Given the description of an element on the screen output the (x, y) to click on. 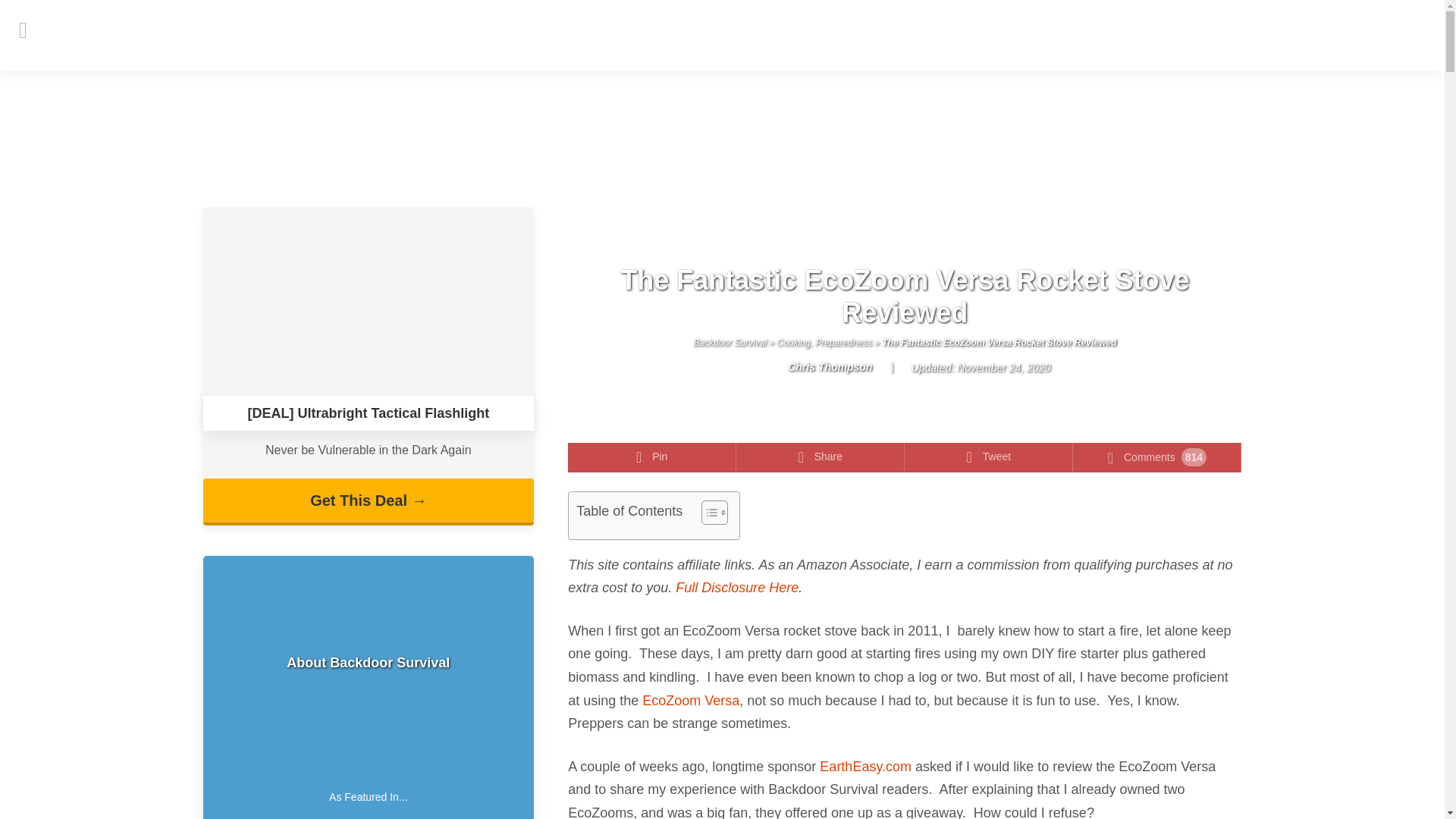
Tweet (988, 457)
Chris Thompson (816, 367)
Gravatar for Chris Thompson (769, 368)
Share on Facebook (820, 457)
Comments814 (1157, 457)
Preparedness (843, 342)
Pin on Pinterest (651, 457)
Chris Thompson (816, 367)
Backdoor Survival (730, 342)
Share on Twitter (988, 457)
Share (820, 457)
Cooking (792, 342)
Backdoor Survival (722, 35)
Pin (651, 457)
Article Comments (1157, 457)
